Given the description of an element on the screen output the (x, y) to click on. 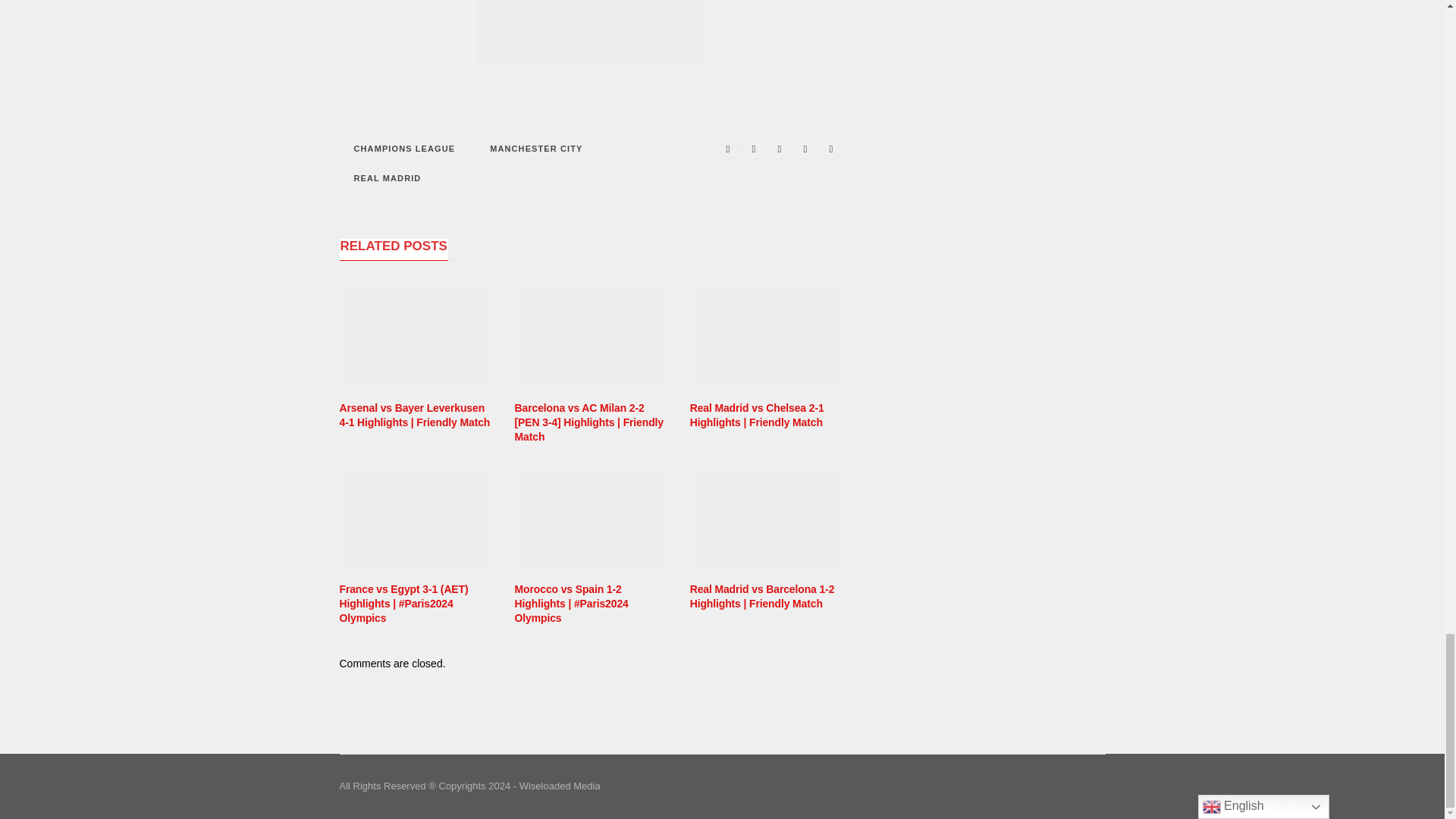
Twitter (753, 148)
Facebook (727, 148)
WhatsApp (831, 148)
Pinterest (779, 148)
Telegram (804, 148)
